Given the description of an element on the screen output the (x, y) to click on. 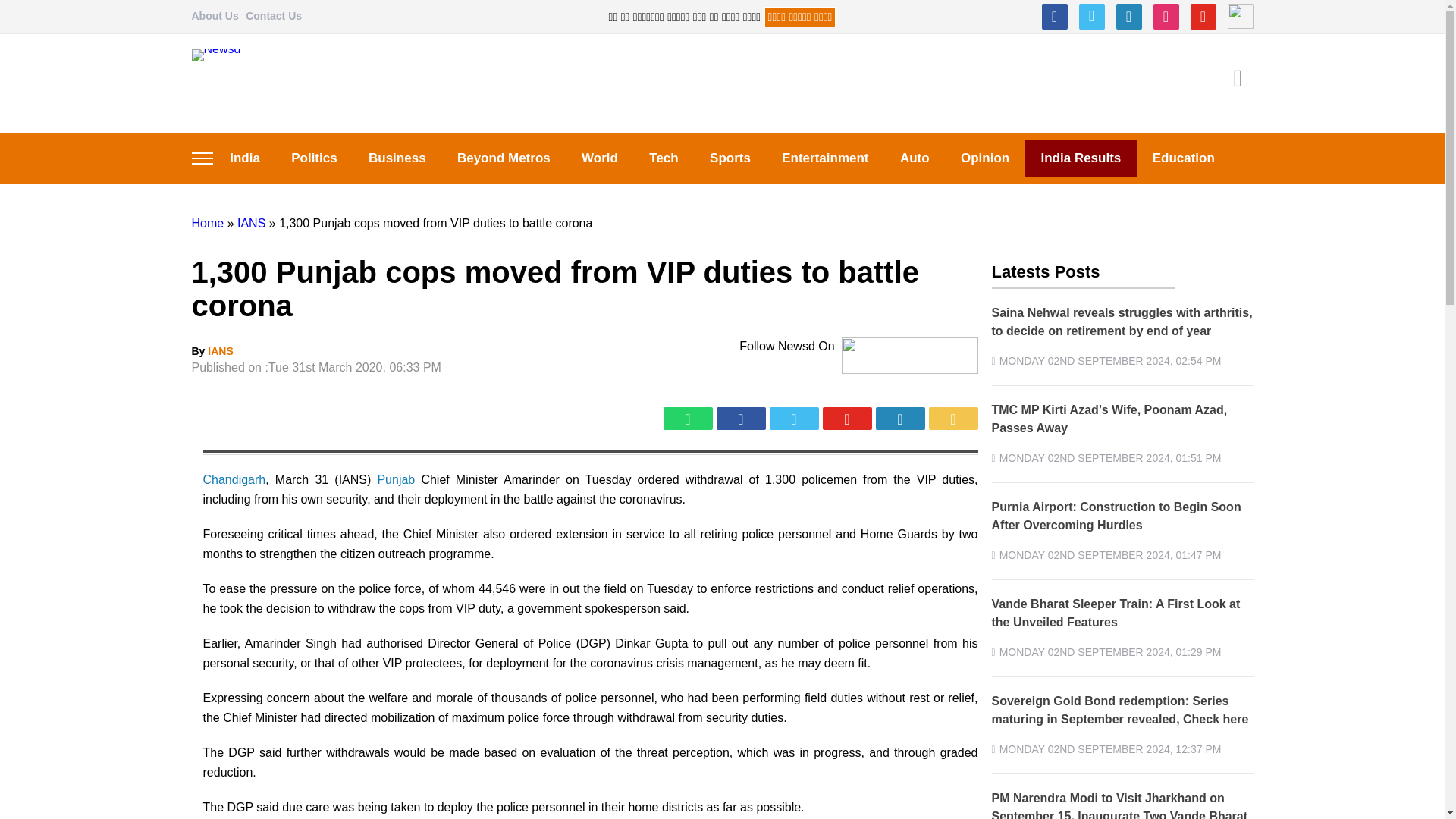
Linkedin (1128, 16)
Home (207, 223)
About Us (214, 15)
Entertainment (826, 158)
India Results (1081, 158)
Tech (663, 158)
Search (1237, 79)
India (244, 158)
Instagram (1165, 16)
World (599, 158)
